Given the description of an element on the screen output the (x, y) to click on. 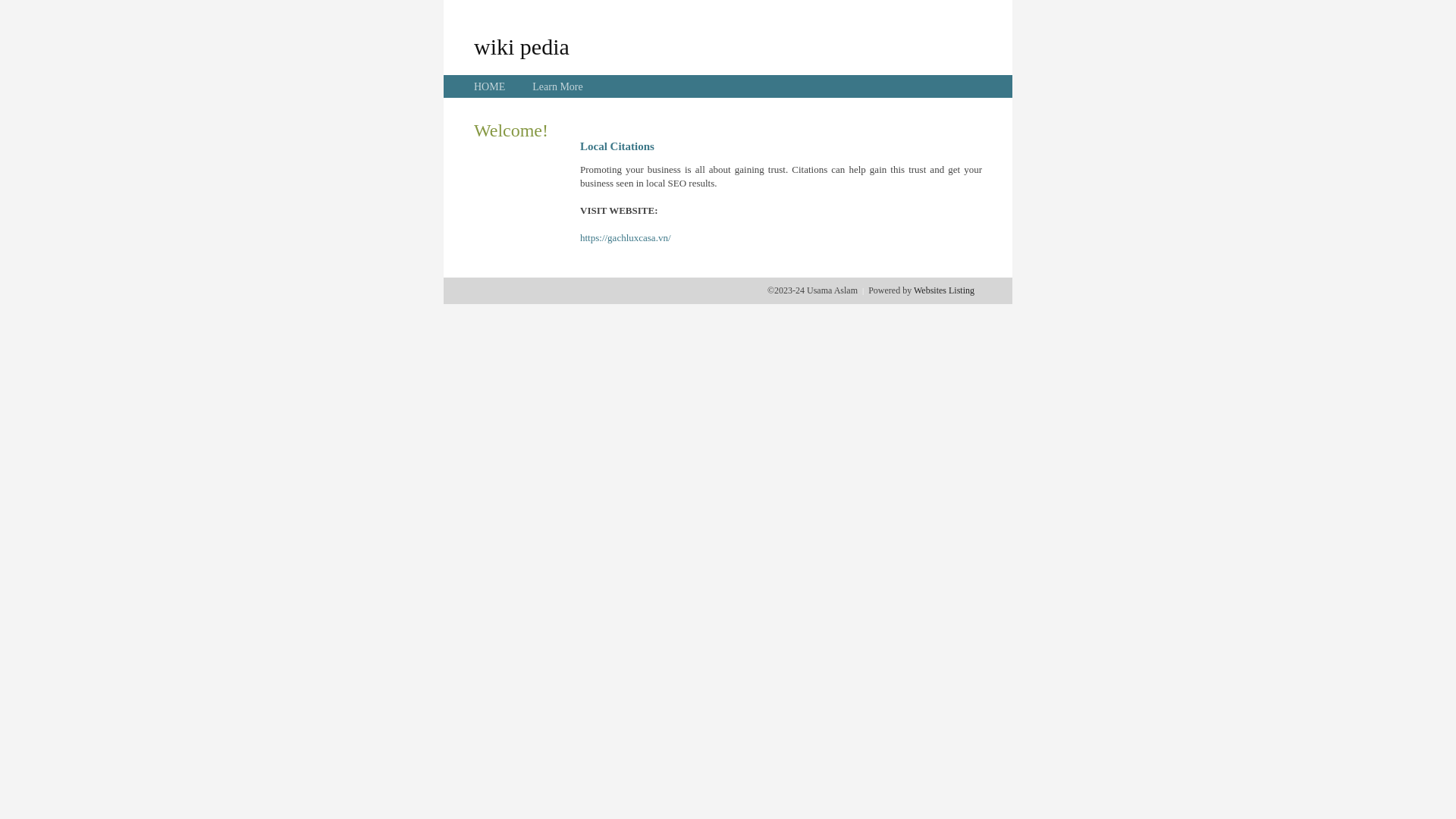
wiki pedia Element type: text (521, 46)
HOME Element type: text (489, 86)
Learn More Element type: text (557, 86)
https://gachluxcasa.vn/ Element type: text (625, 237)
Websites Listing Element type: text (943, 290)
